Given the description of an element on the screen output the (x, y) to click on. 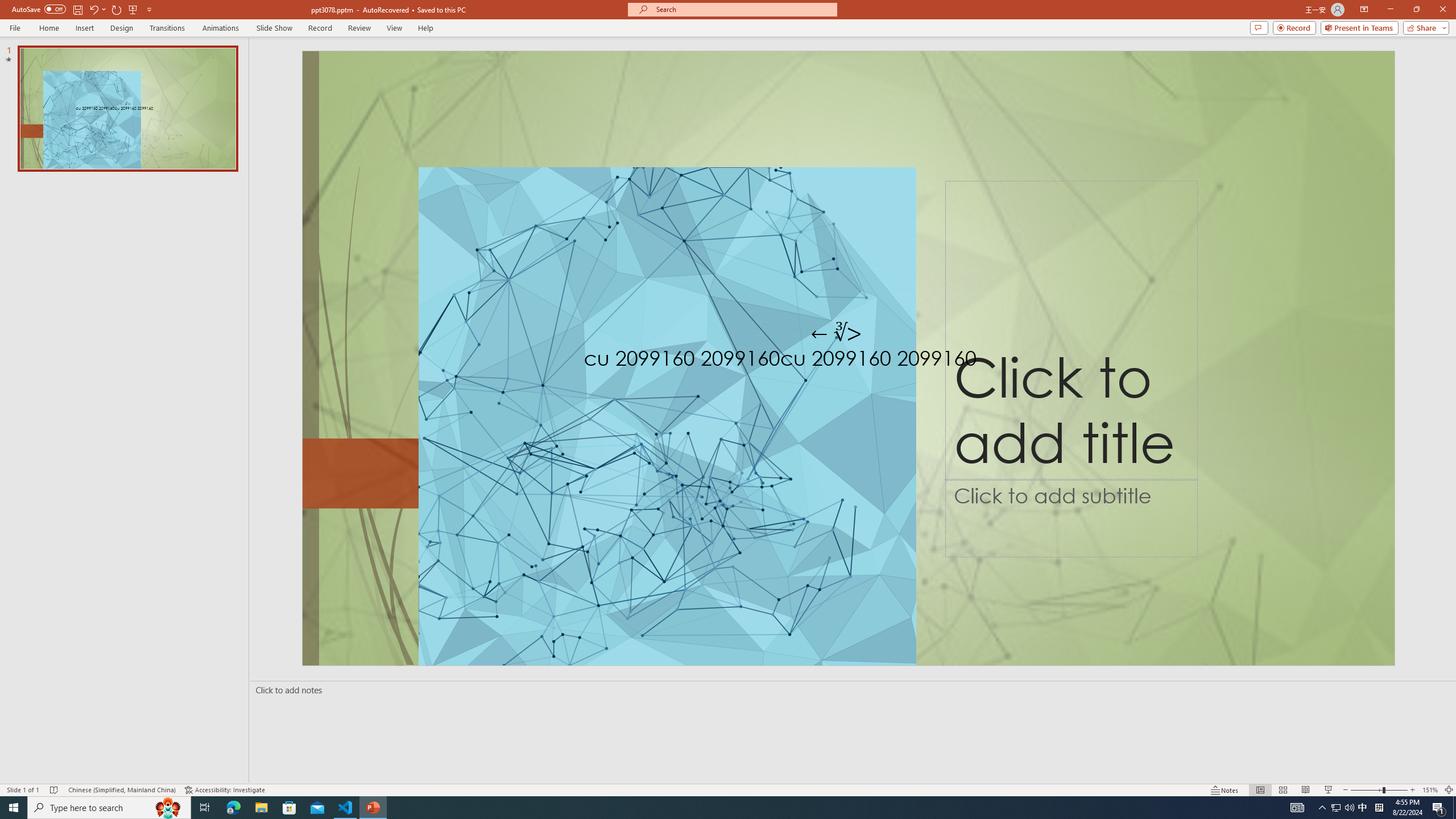
Zoom 151% (1430, 790)
